Given the description of an element on the screen output the (x, y) to click on. 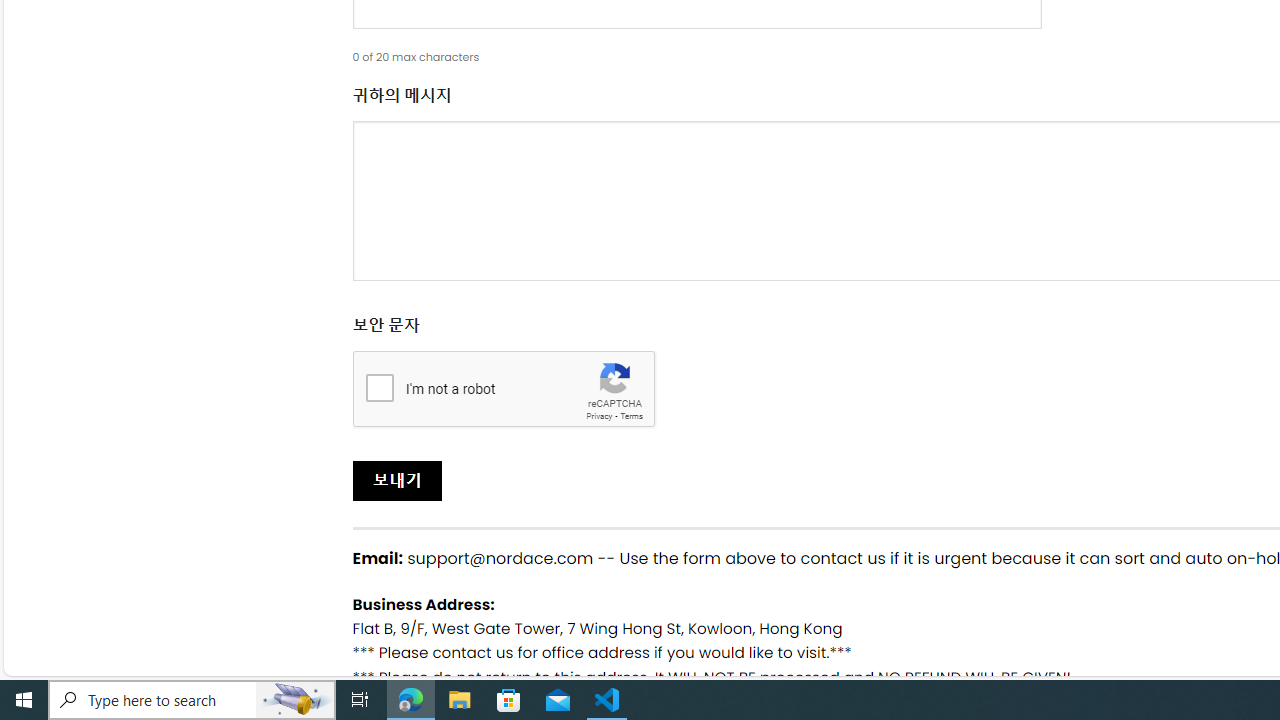
Terms (631, 416)
I'm not a robot (379, 386)
